Given the description of an element on the screen output the (x, y) to click on. 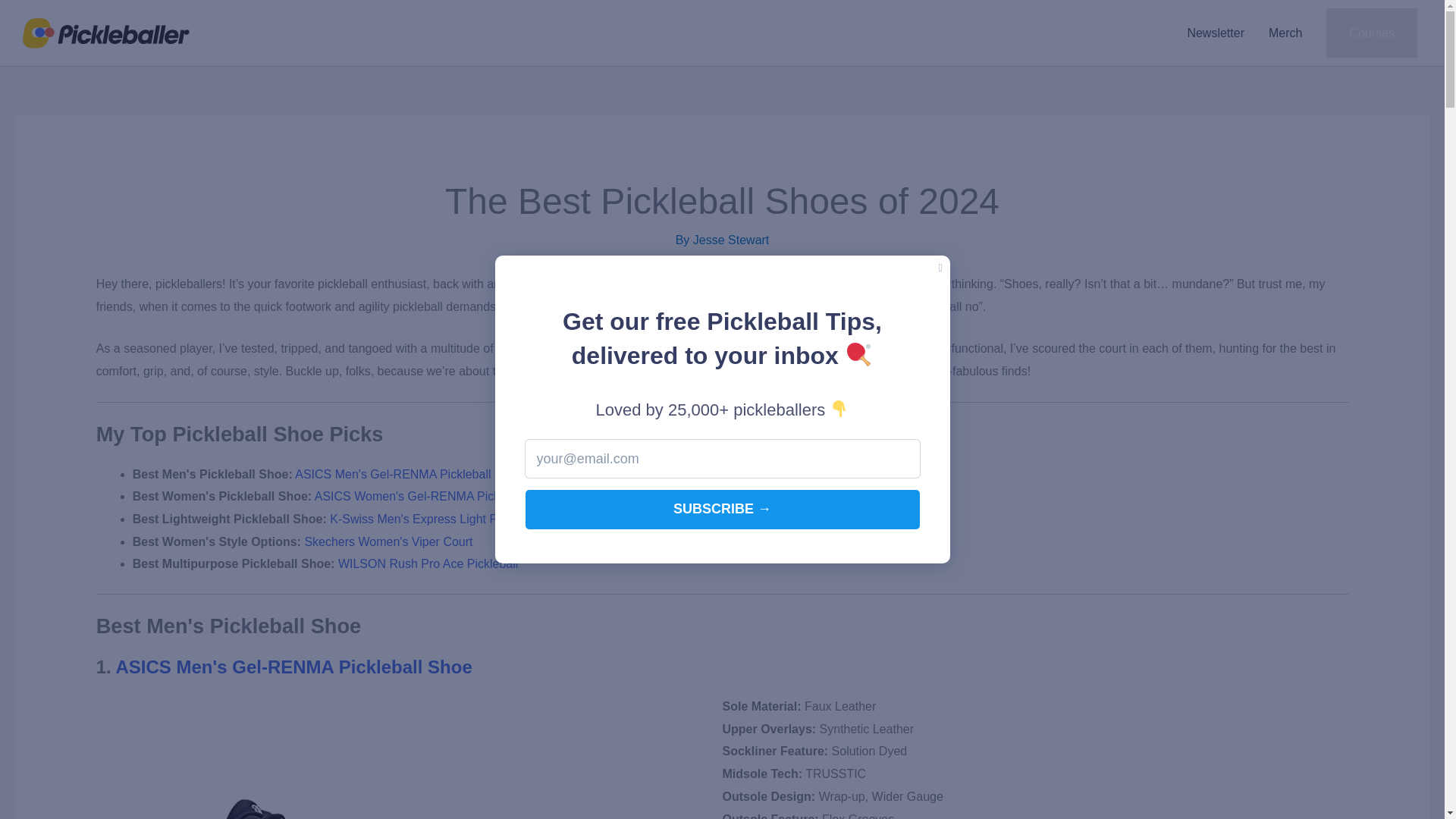
Courses (1371, 33)
K-Swiss Men's Express Light Pickleball Shoe (451, 518)
ASICS Men's Gel-RENMA Pickleball Shoe (408, 473)
WILSON Rush Pro Ace Pickleball (427, 563)
ASICS Men's Gel-RENMA Pickleball Shoe (408, 473)
Skechers Women's Viper Court (387, 541)
Newsletter (1215, 33)
ASICS Men's Gel-RENMA Pickleball Shoe (293, 666)
WILSON Rush Pro Ace Pickleball (427, 563)
View all posts by Jesse Stewart (730, 239)
ASICS Men's Gel-RENMA Pickleball Shoe (293, 666)
K-Swiss Men's Express Light Pickleball Shoe (451, 518)
ASICS Women's Gel-RENMA Pickleball Shoe (437, 495)
Jesse Stewart (730, 239)
ASICS Women's Gel-RENMA Pickleball Shoe (437, 495)
